Given the description of an element on the screen output the (x, y) to click on. 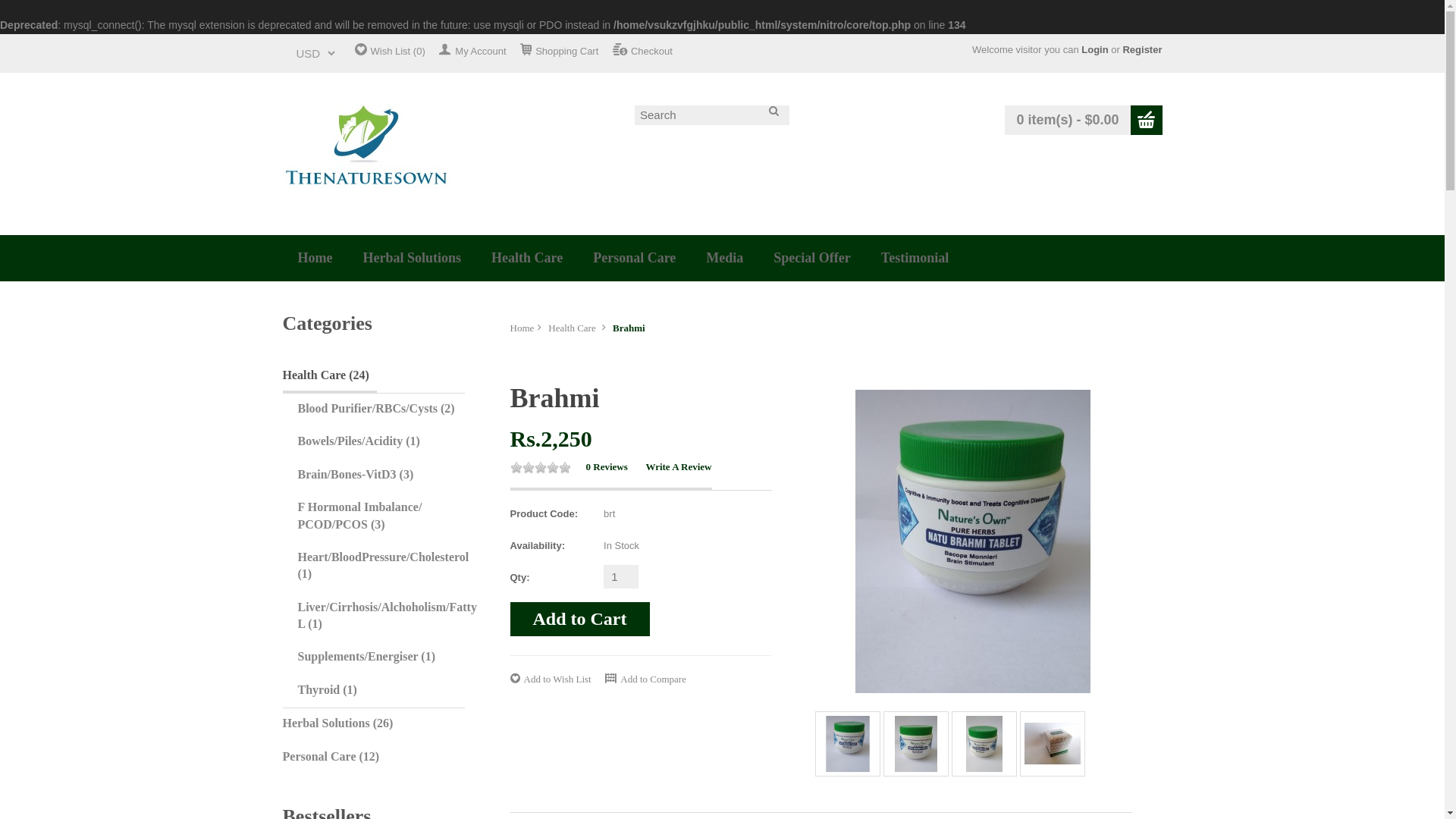
Home (314, 258)
Register (1141, 49)
Herbal Solutions (411, 258)
thenaturesown (365, 153)
Home (314, 258)
Brahmi (972, 540)
Checkout (642, 50)
Shopping Cart (558, 50)
Login (1094, 49)
My Account (472, 50)
1 (621, 576)
